Given the description of an element on the screen output the (x, y) to click on. 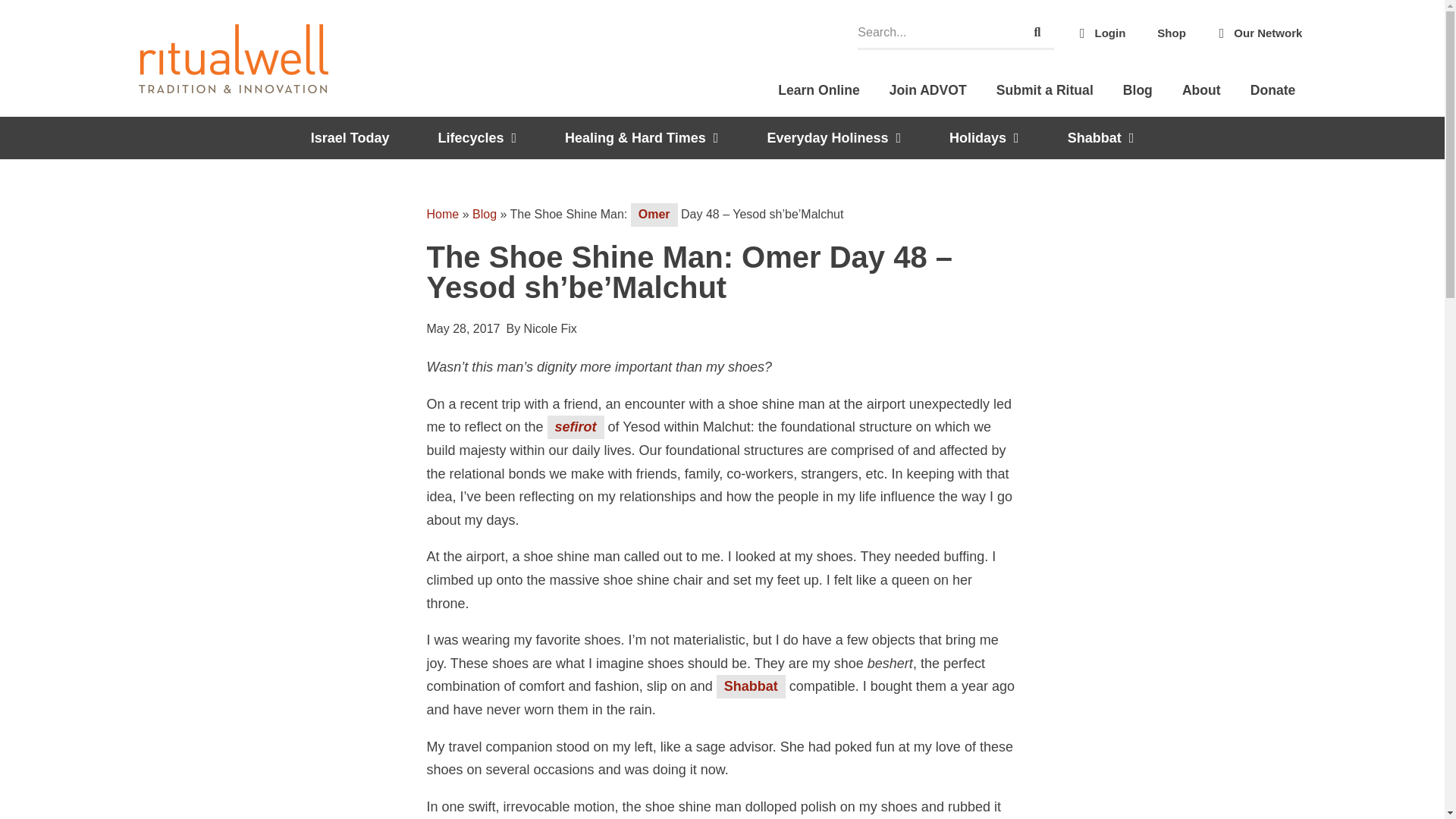
Shop (1171, 33)
Our Network (1257, 33)
Login (1099, 33)
Lifecycles (476, 137)
Home (442, 214)
Donate (1273, 89)
Learn Online (818, 89)
About (1200, 89)
Submit a Ritual (1045, 89)
Join ADVOT (928, 89)
Search (938, 31)
Blog (483, 214)
Blog (1137, 89)
Israel Today (349, 137)
Search (1037, 31)
